Given the description of an element on the screen output the (x, y) to click on. 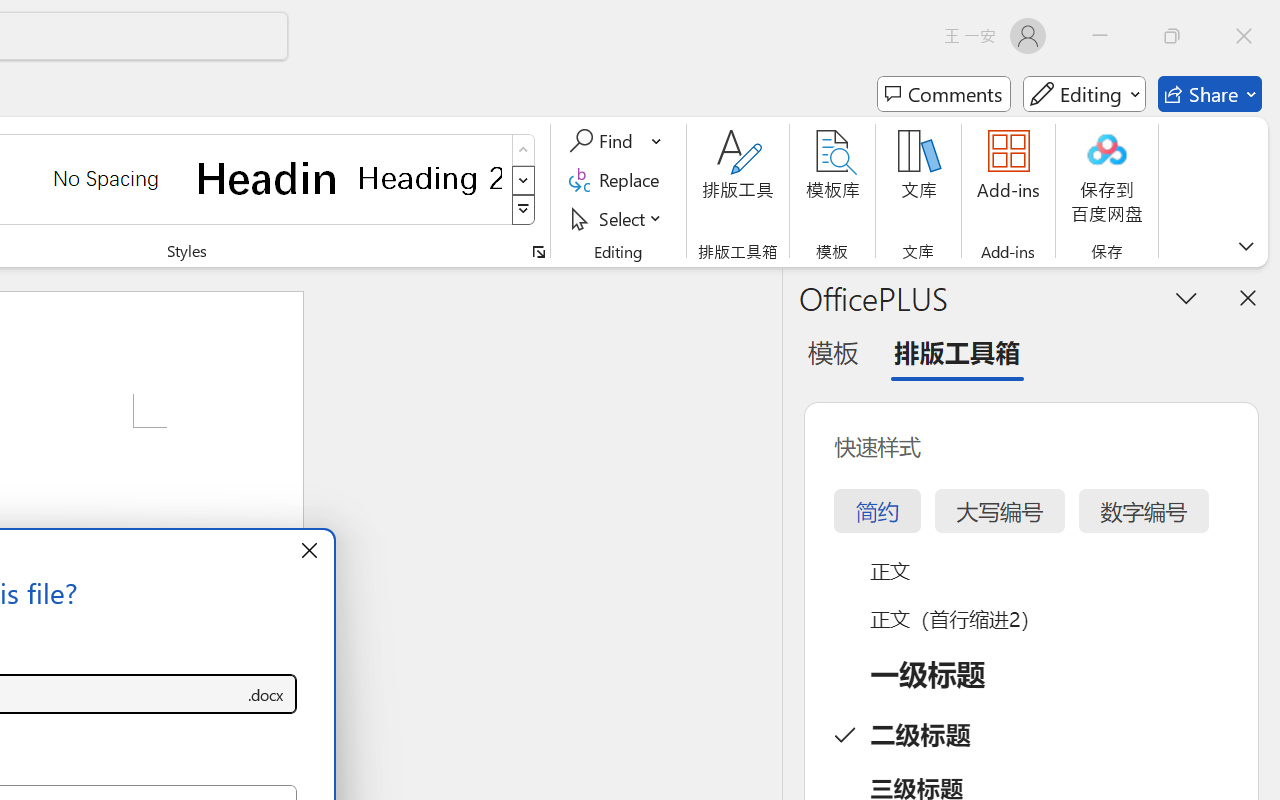
Save as type (265, 694)
